Given the description of an element on the screen output the (x, y) to click on. 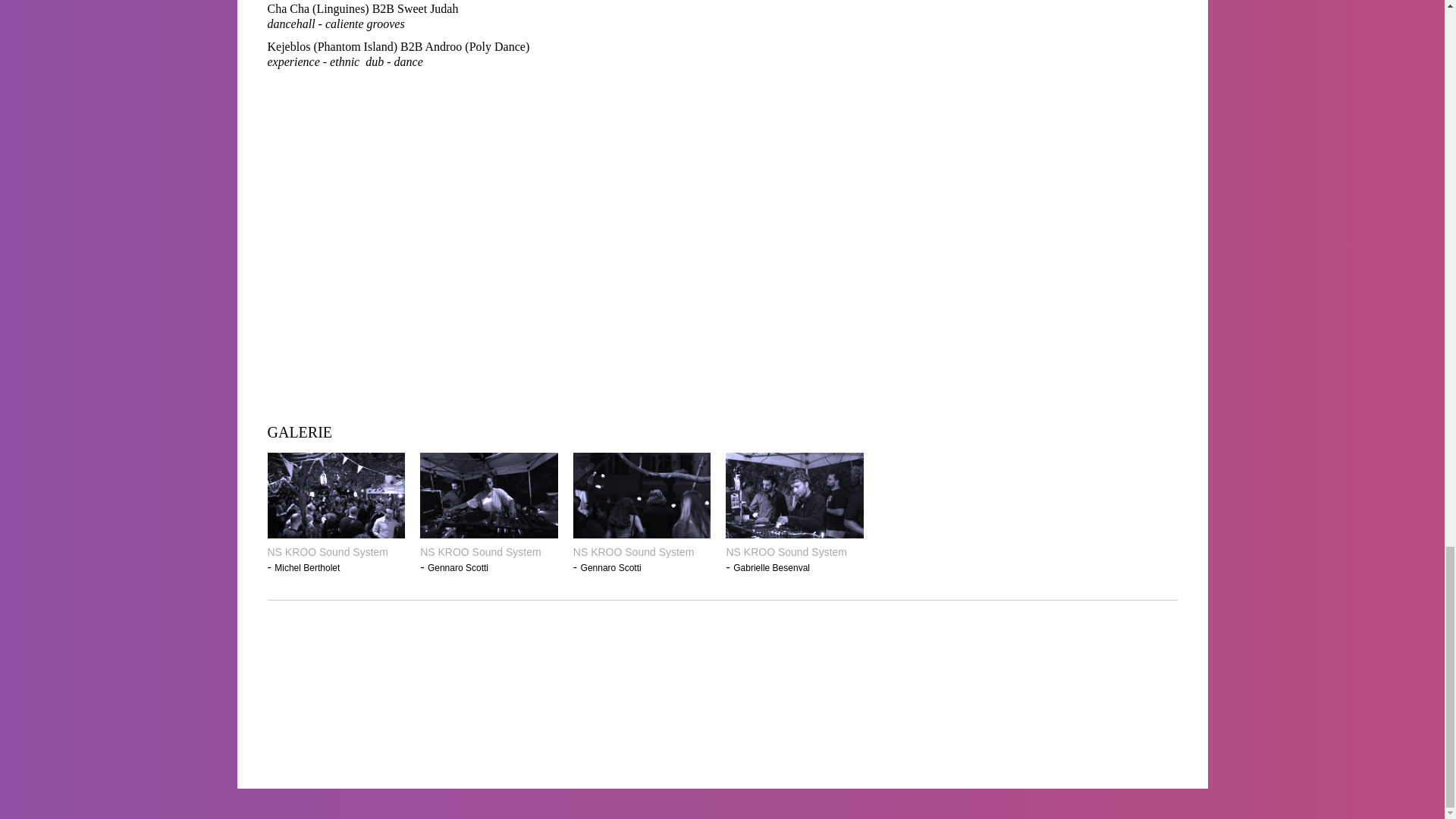
NS KROO Sound System (335, 551)
Parking Riponne (798, 654)
SIL (644, 654)
NS KROO Sound System (794, 551)
Canton de Vaud (491, 727)
Bureau A (953, 654)
Campari (798, 727)
Loterie Romande (1107, 727)
Banque Migros (491, 654)
24 heures (953, 727)
NS KROO Sound System (642, 551)
Ville de Lausanne (1107, 654)
ProHelvetia (336, 727)
NS KROO Sound System (488, 551)
